Given the description of an element on the screen output the (x, y) to click on. 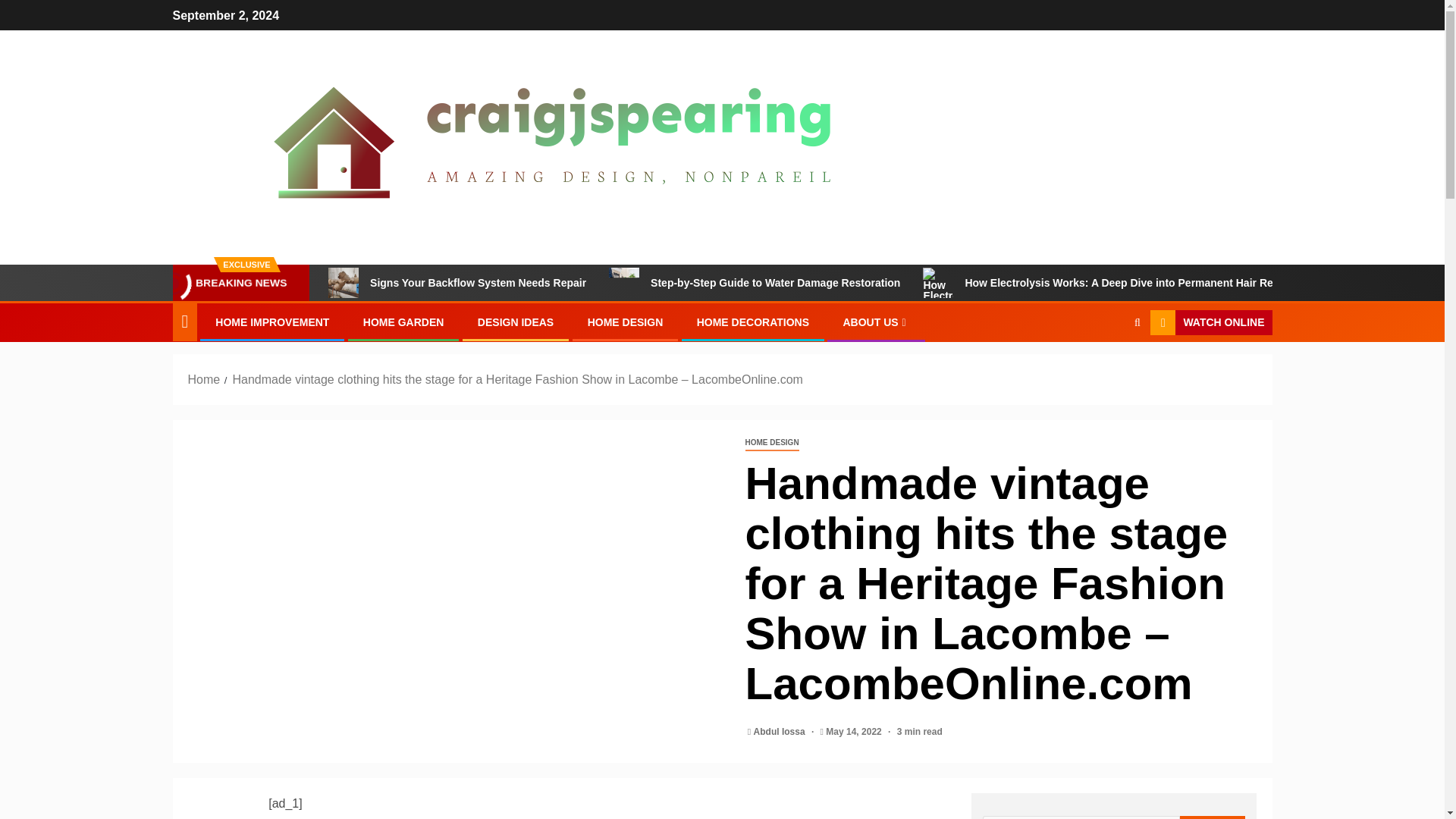
HOME DESIGN (770, 442)
Home (204, 379)
Signs Your Backflow System Needs Repair (343, 282)
Search (1107, 369)
Search (1212, 817)
DESIGN IDEAS (515, 322)
Step-by-Step Guide to Water Damage Restoration (753, 282)
HOME IMPROVEMENT (272, 322)
ABOUT US (875, 322)
Signs Your Backflow System Needs Repair (456, 282)
